Given the description of an element on the screen output the (x, y) to click on. 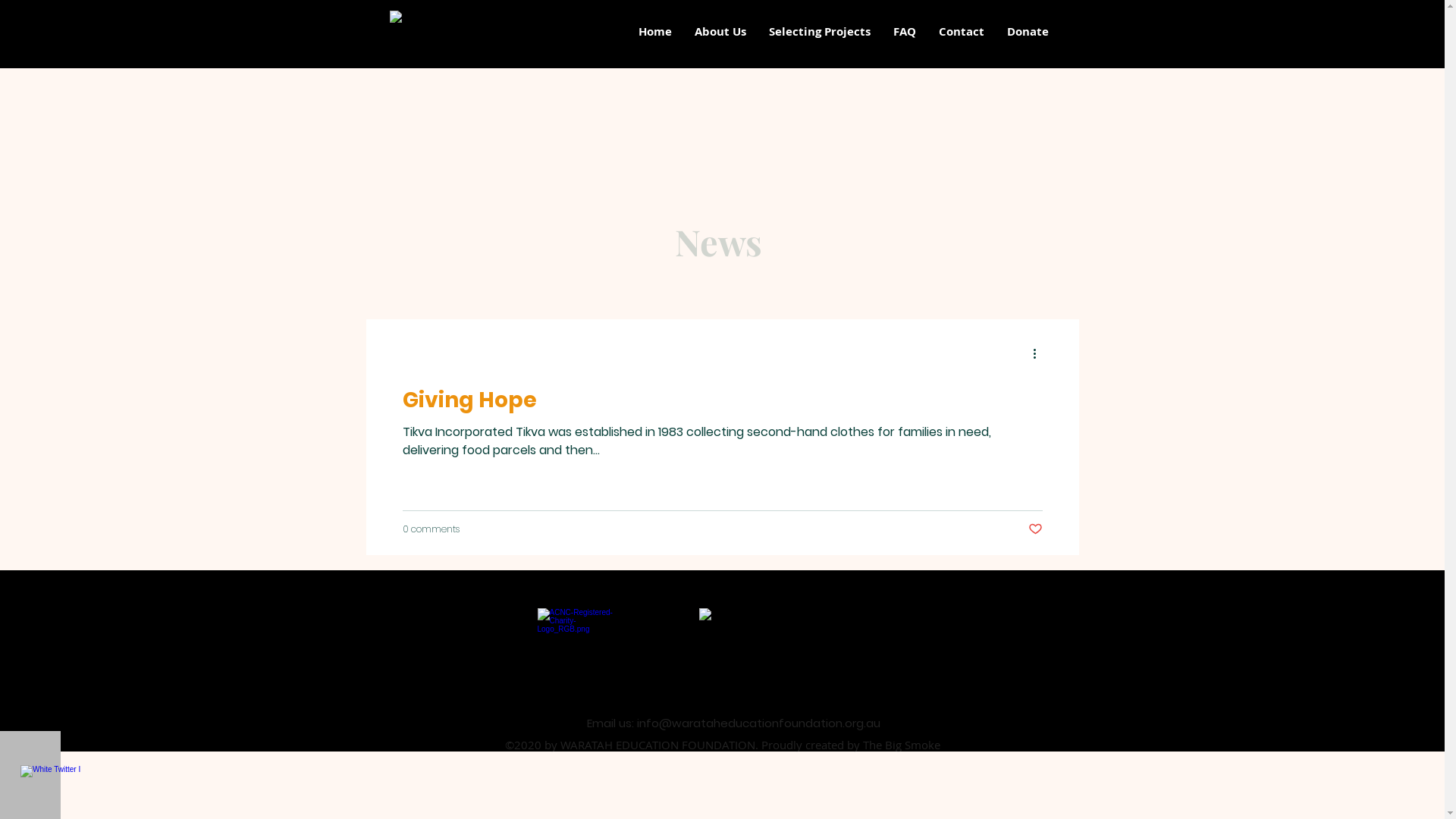
Selecting Projects Element type: text (819, 31)
0 comments Element type: text (429, 529)
info@warataheducationfoundation.org.au Element type: text (758, 728)
FAQ Element type: text (904, 31)
Home Element type: text (655, 31)
Giving Hope Element type: text (721, 399)
Contact Element type: text (961, 31)
About Us Element type: text (720, 31)
Donate Element type: text (1027, 31)
Post not marked as liked Element type: text (1035, 529)
